Given the description of an element on the screen output the (x, y) to click on. 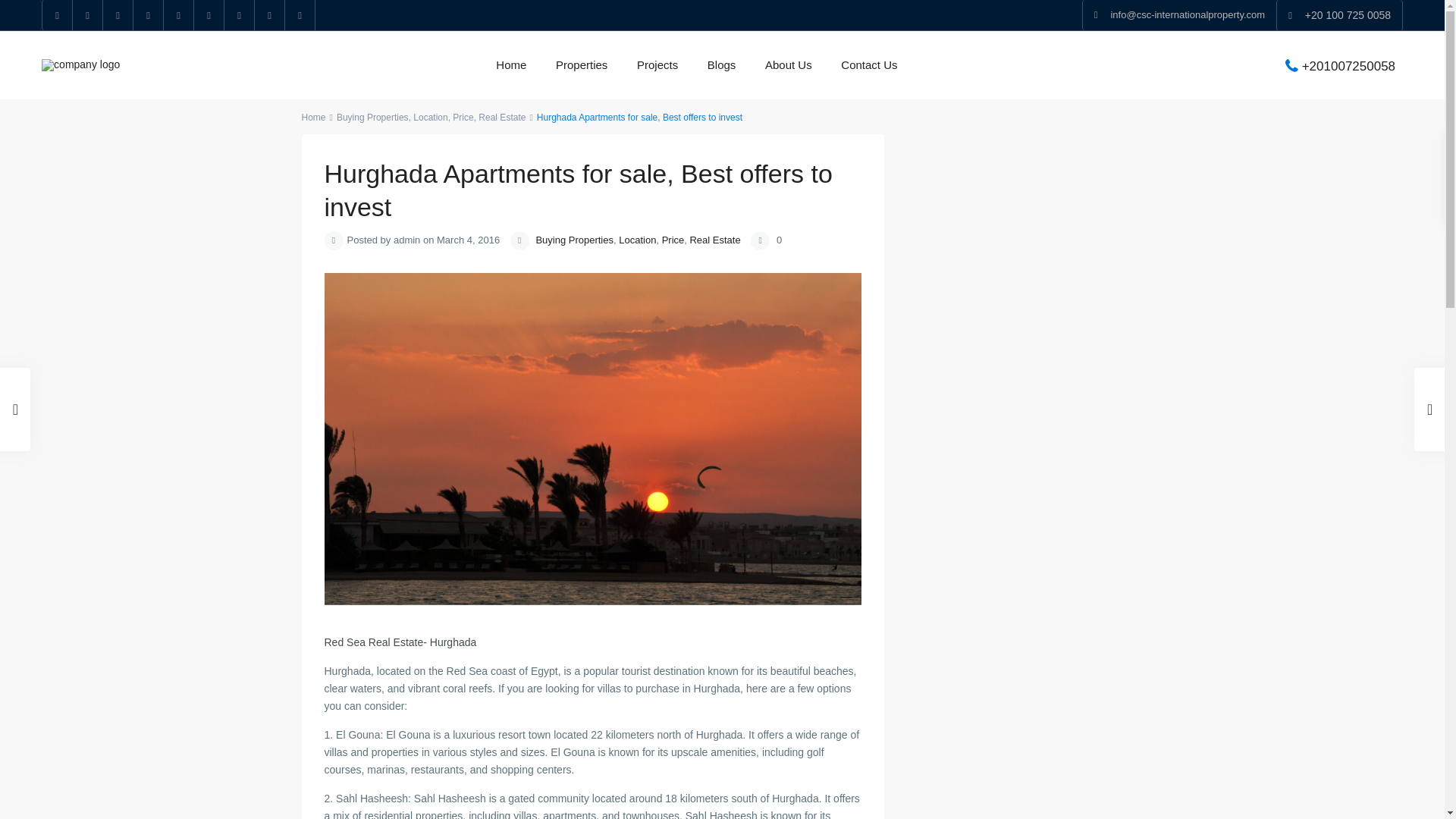
Location (429, 117)
Projects (657, 65)
Buying Properties (372, 117)
Buying Properties (573, 239)
Properties (581, 65)
Real Estate (502, 117)
Contact Us (868, 65)
About Us (789, 65)
Price (462, 117)
Home (313, 117)
